Given the description of an element on the screen output the (x, y) to click on. 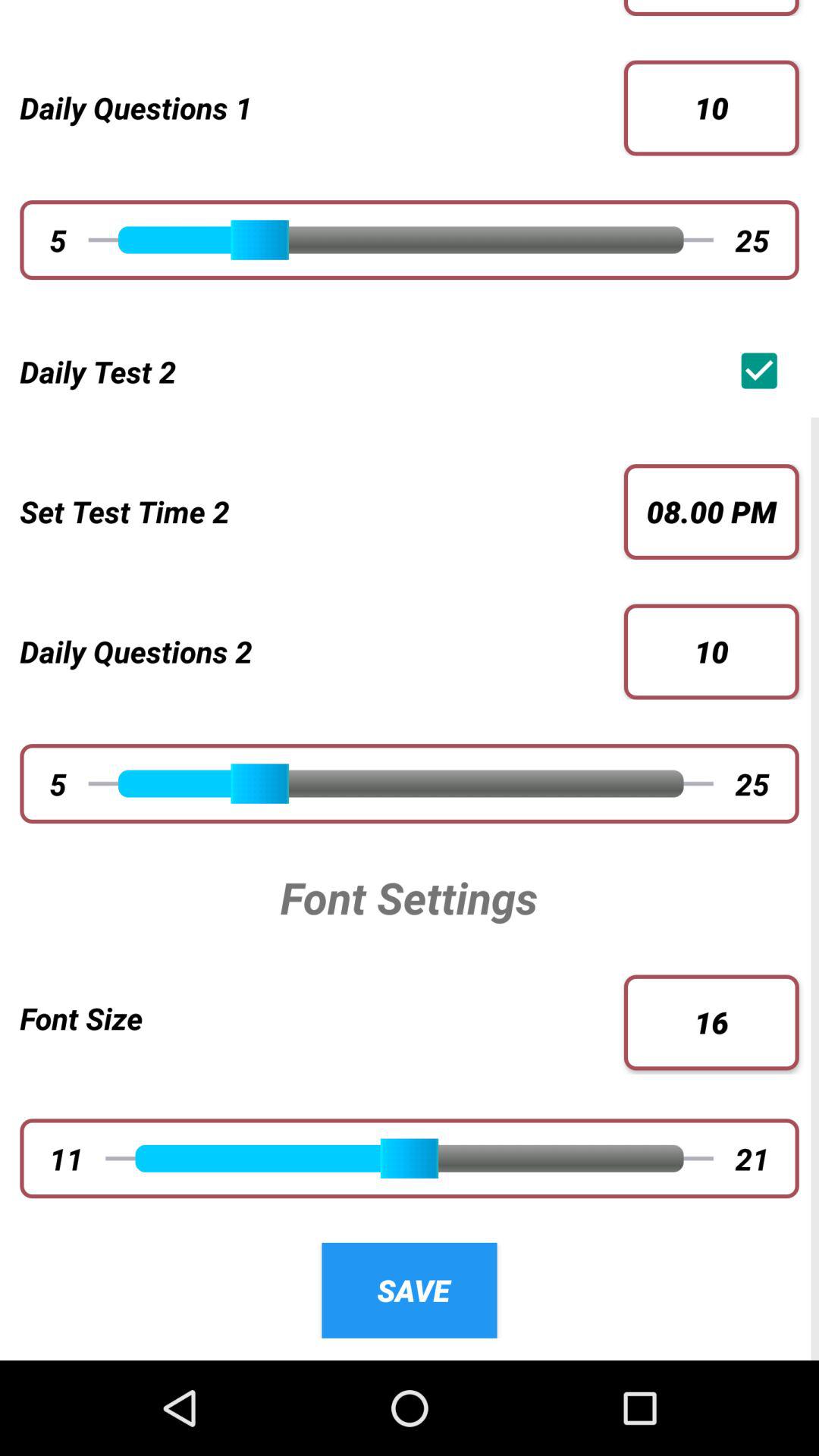
jump to font size item (321, 1018)
